Given the description of an element on the screen output the (x, y) to click on. 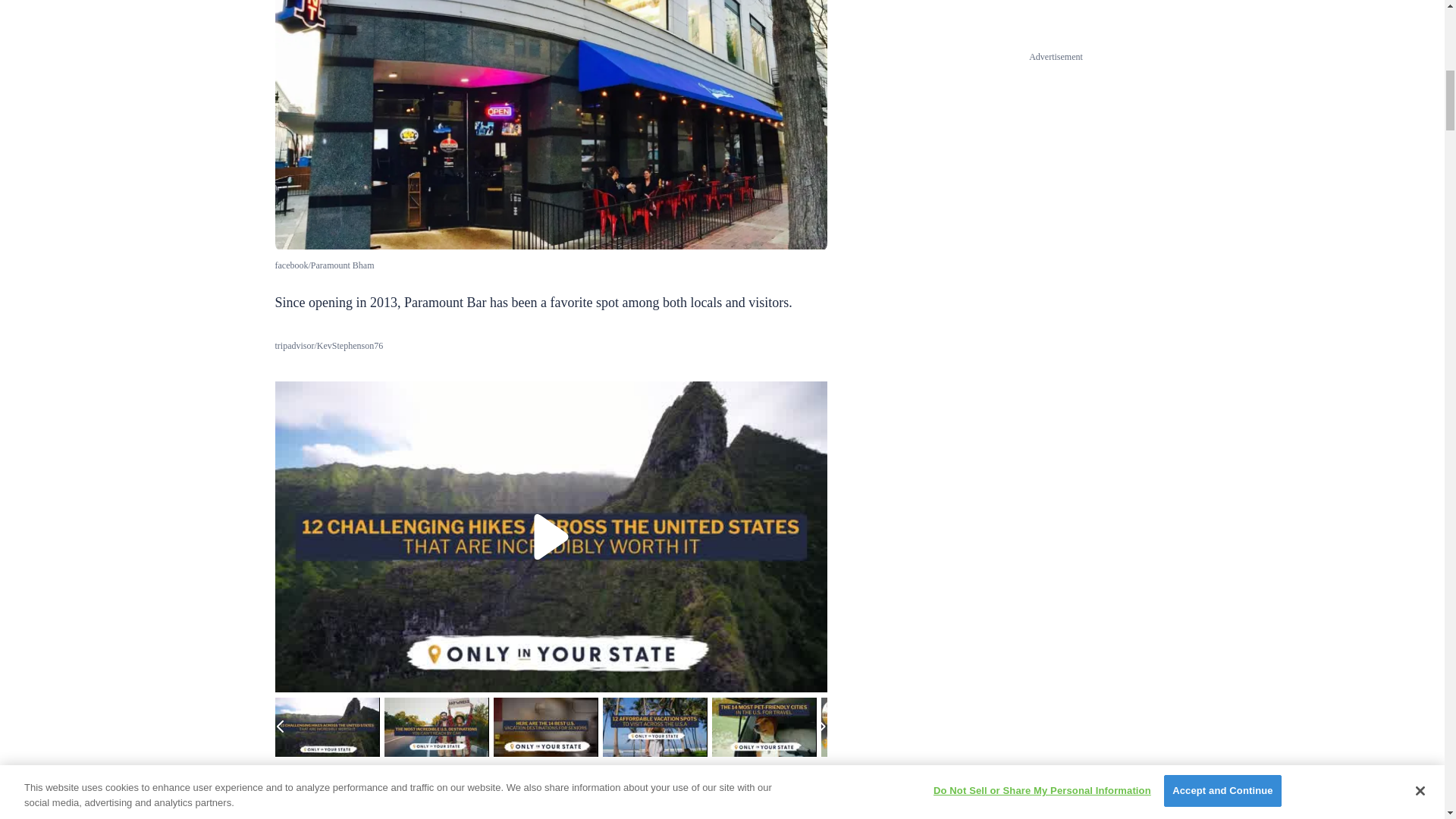
3rd party ad content (549, 800)
